Given the description of an element on the screen output the (x, y) to click on. 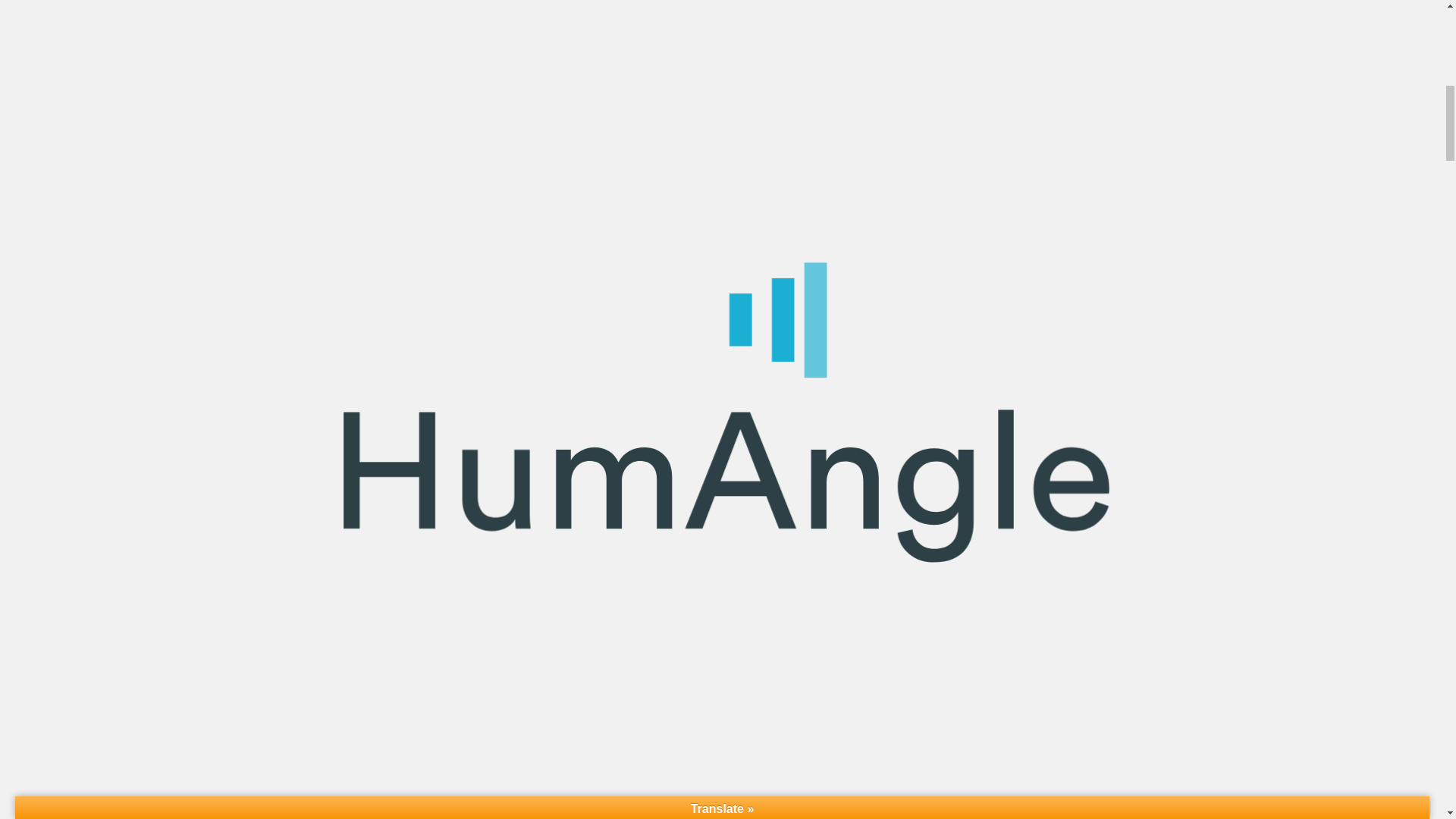
Inside Africa (701, 120)
'Kunle Adebajo (725, 345)
News (420, 120)
Interests (784, 120)
Facebook (686, 386)
Podcasts (615, 120)
HumAngle (721, 48)
Features (478, 120)
Analyses (544, 120)
X (721, 386)
LinkedIn (757, 386)
